Given the description of an element on the screen output the (x, y) to click on. 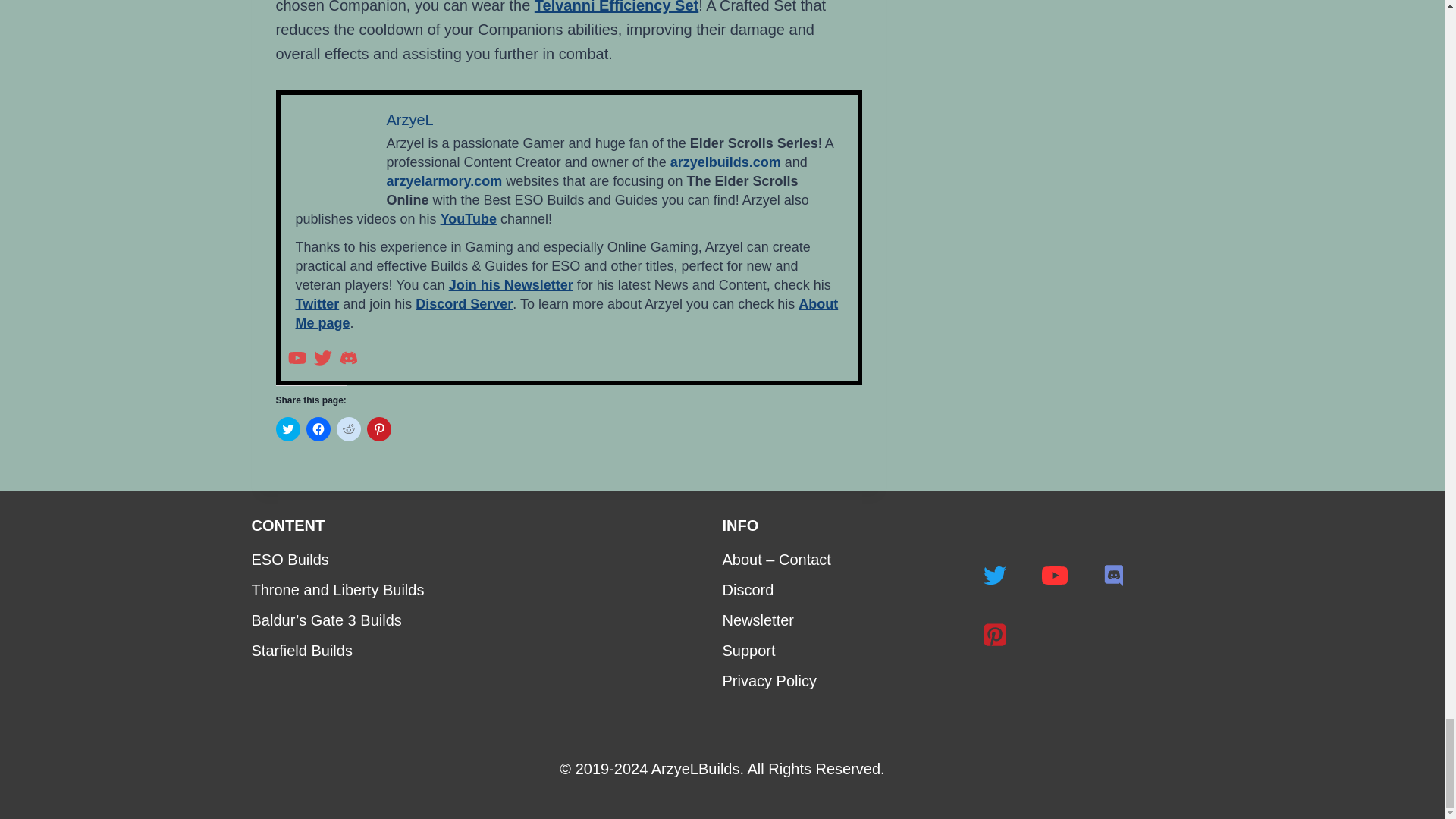
Click to share on Twitter (287, 428)
Click to share on Reddit (348, 428)
Click to share on Facebook (317, 428)
